Given the description of an element on the screen output the (x, y) to click on. 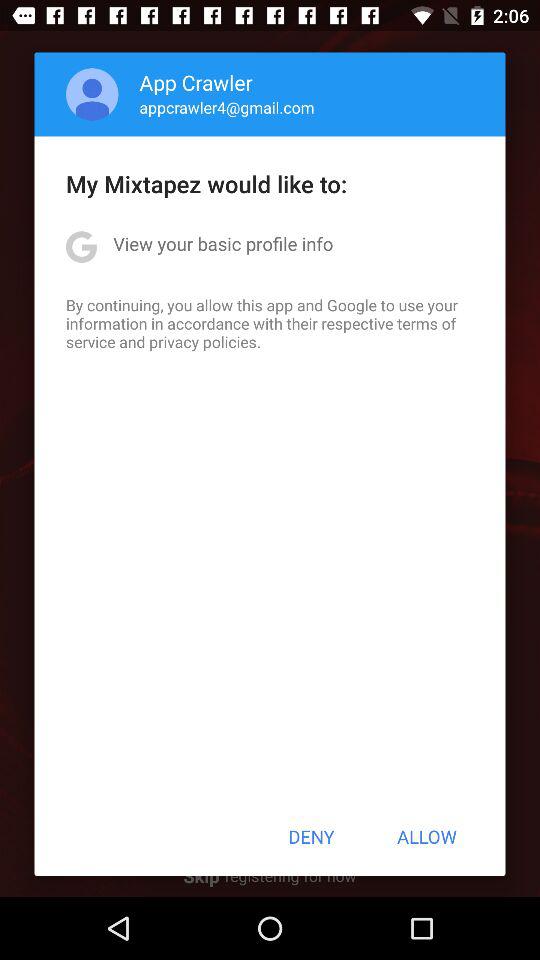
press item above the my mixtapez would item (226, 107)
